Given the description of an element on the screen output the (x, y) to click on. 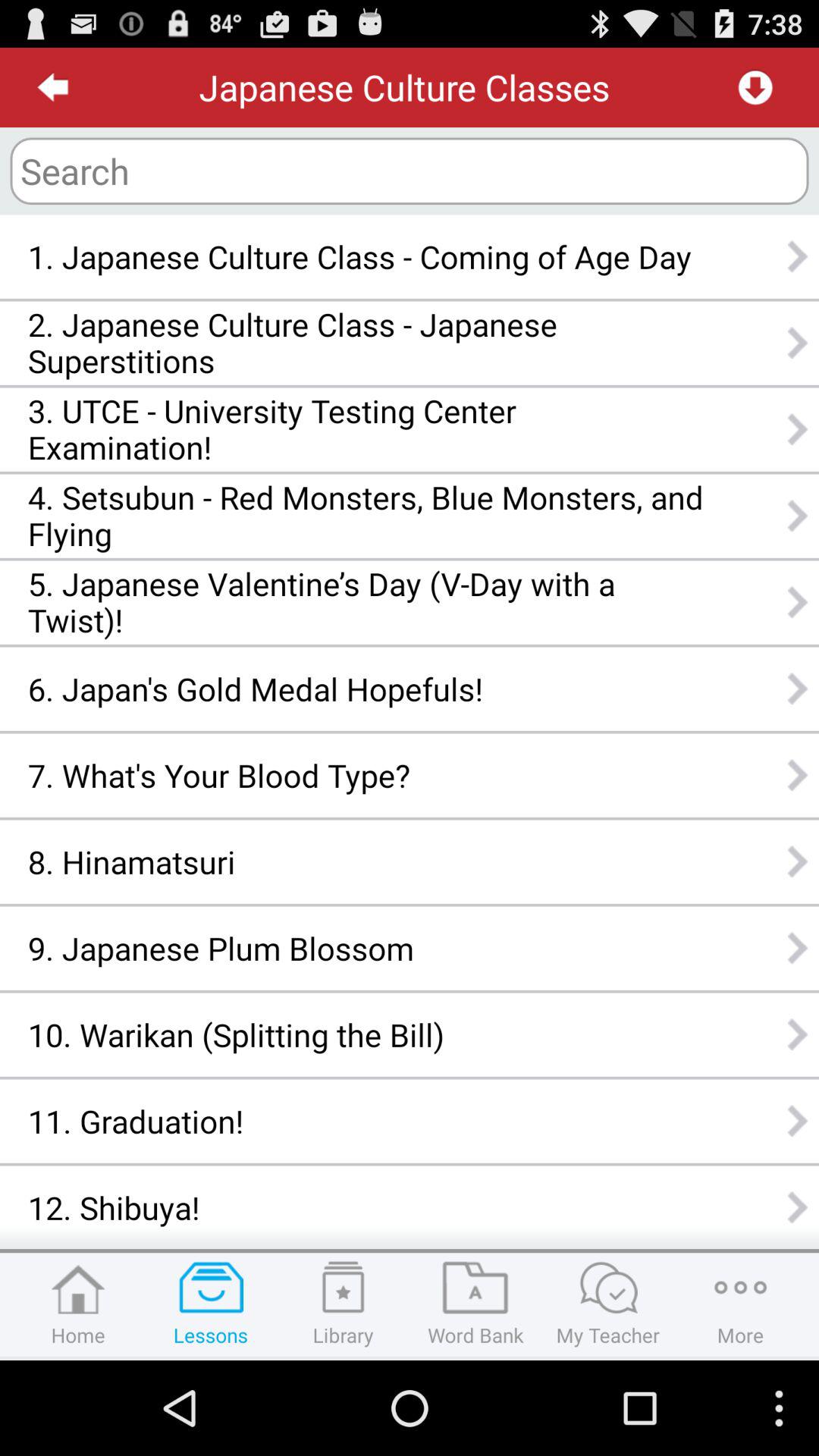
select the item below the 2 japanese culture (365, 429)
